Given the description of an element on the screen output the (x, y) to click on. 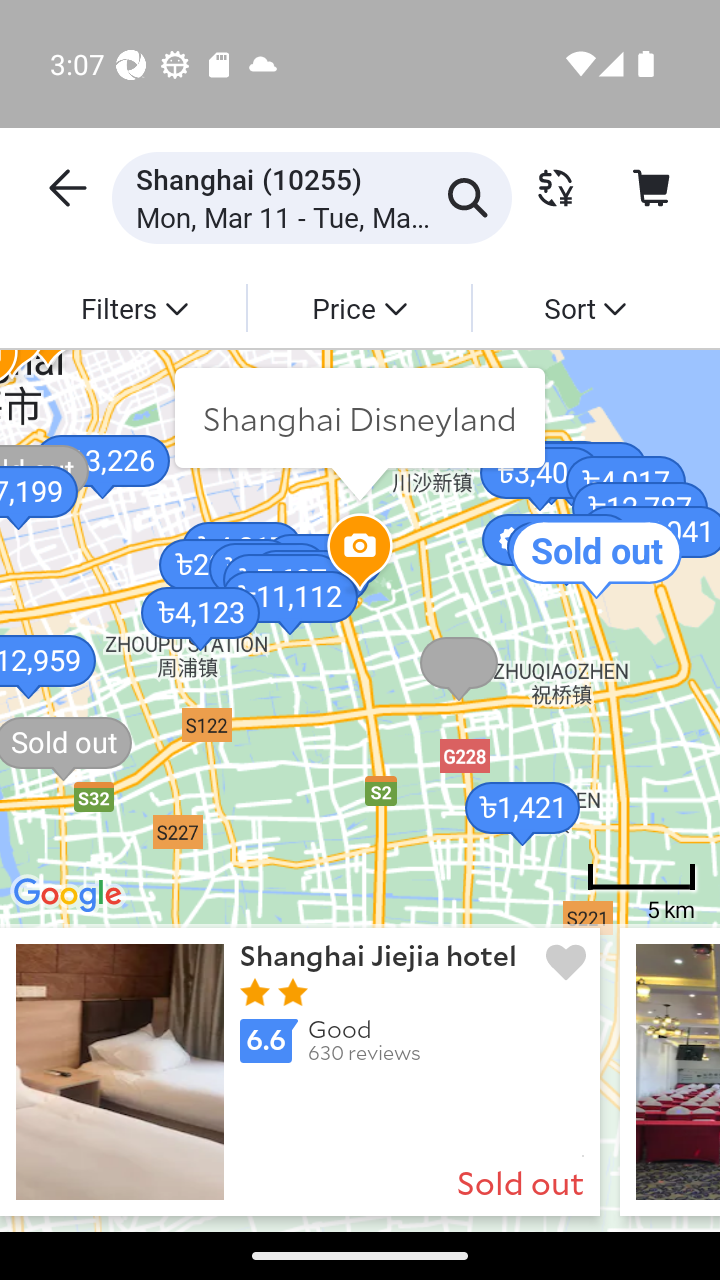
Filters (134, 307)
Price (358, 307)
Sort (584, 307)
